Given the description of an element on the screen output the (x, y) to click on. 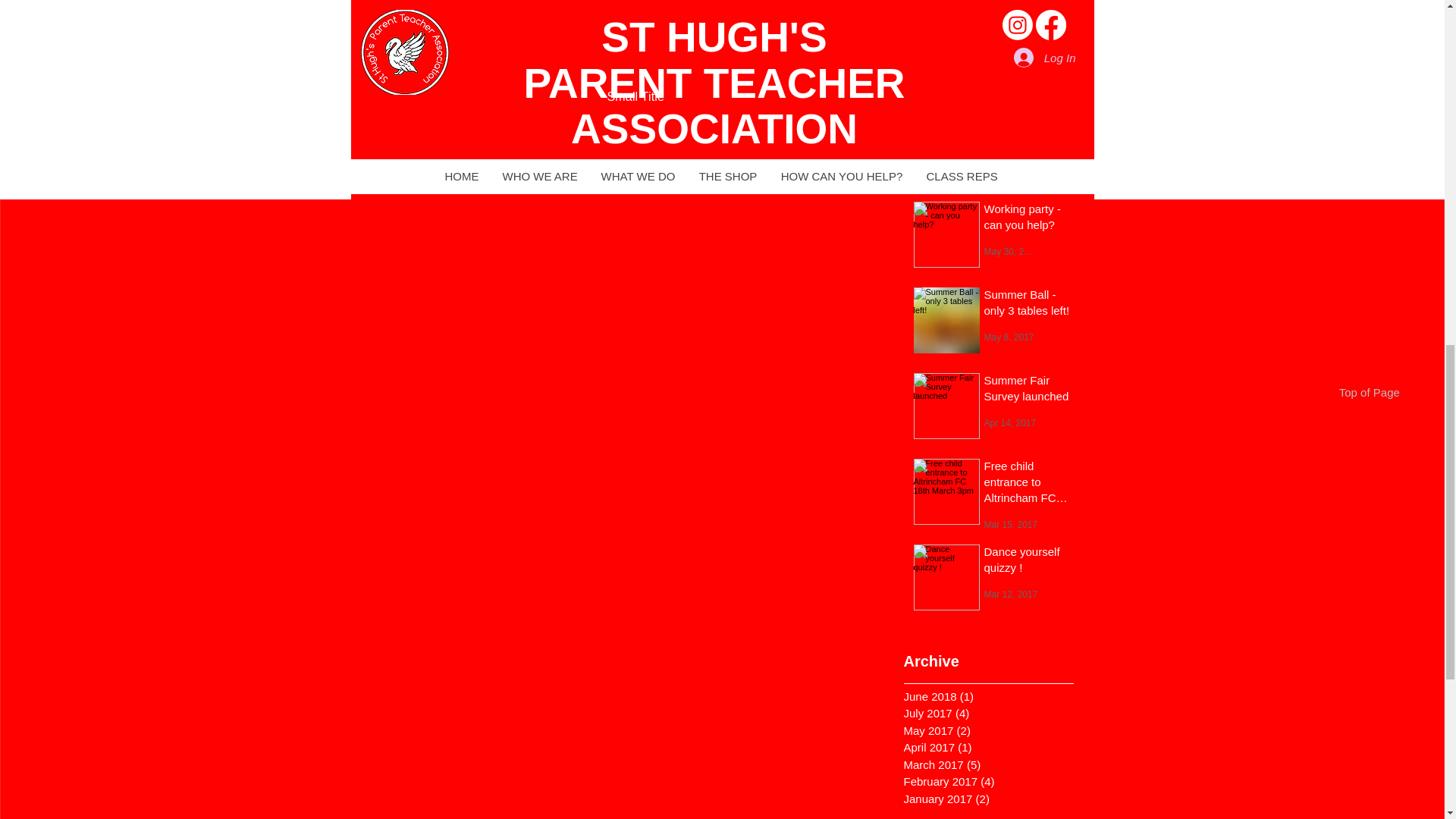
Summer Ball - only 3 tables left! (1027, 305)
Jul 17, 2017 (1008, 95)
Dance yourself quizzy ! (1027, 561)
Working party - can you help? (1027, 218)
Jul 5, 2017 (1006, 165)
Christian's getting shirty (1027, 134)
Apr 14, 2017 (1010, 421)
Mar 12, 2017 (1011, 593)
Summer Fair Survey launched (1027, 390)
May 30, 2017 (1011, 250)
Mar 15, 2017 (1011, 523)
Jul 20, 2017 (1008, 9)
Free child entrance to Altrincham FC 18th March 3pm (1027, 484)
May 8, 2017 (1008, 337)
